Given the description of an element on the screen output the (x, y) to click on. 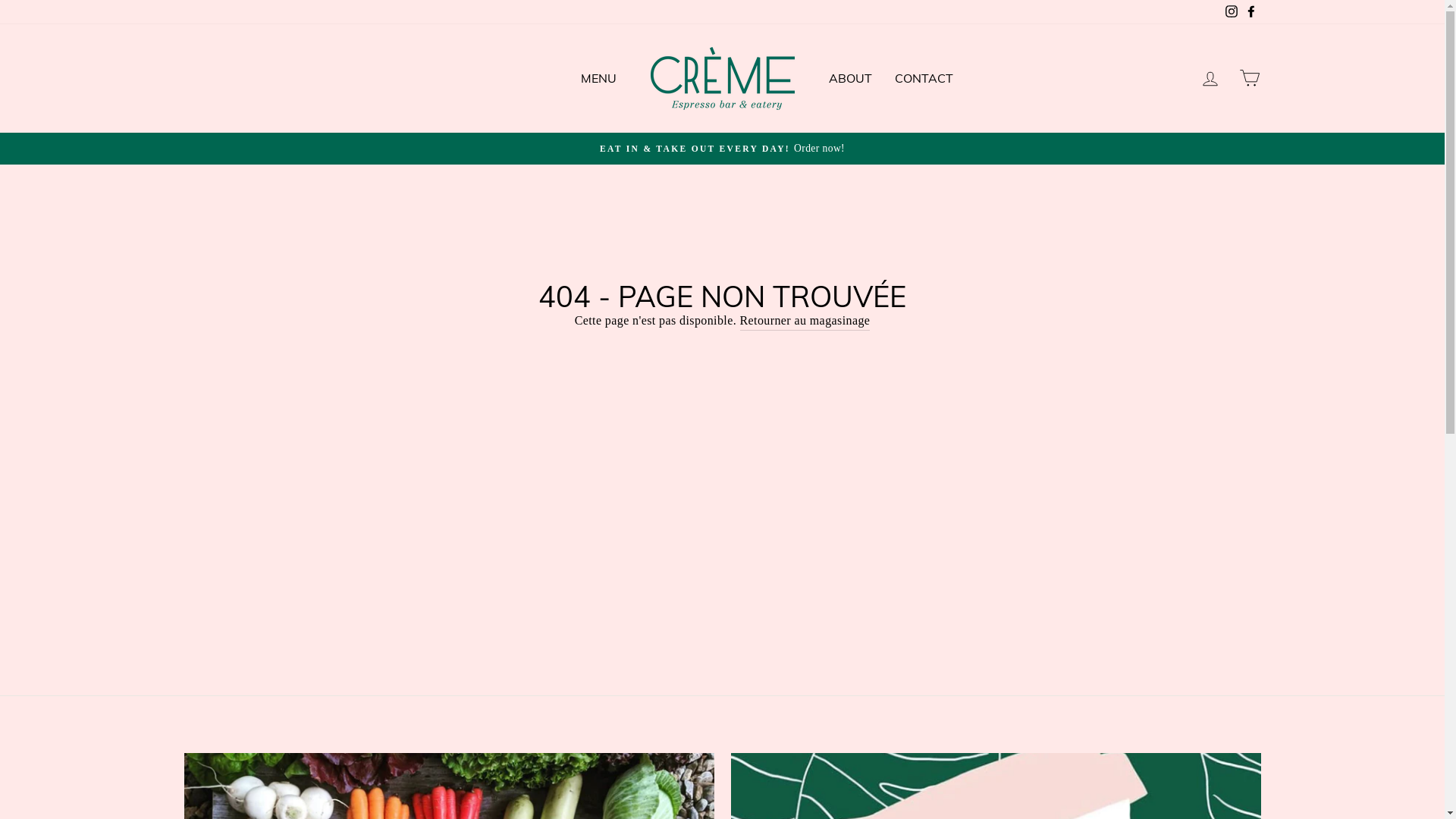
Facebook Element type: text (1250, 12)
PANIER Element type: text (1249, 78)
Retourner au magasinage Element type: text (805, 320)
MENU Element type: text (597, 78)
Passer au contenu Element type: text (0, 0)
ABOUT Element type: text (850, 78)
SE CONNECTER Element type: text (1210, 78)
Instagram Element type: text (1230, 12)
CONTACT Element type: text (922, 78)
